Given the description of an element on the screen output the (x, y) to click on. 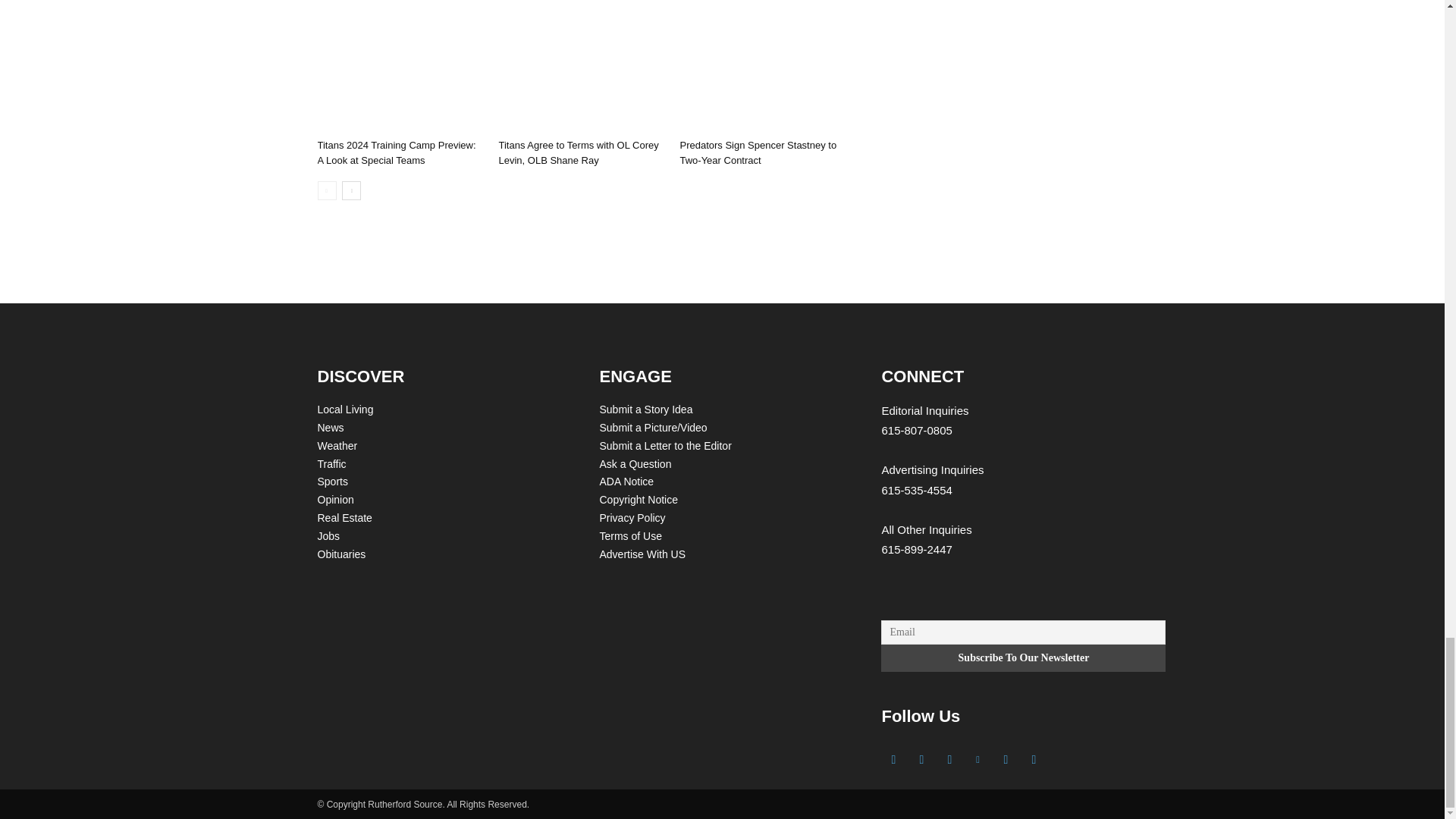
Subscribe To Our Newsletter (1023, 657)
